Given the description of an element on the screen output the (x, y) to click on. 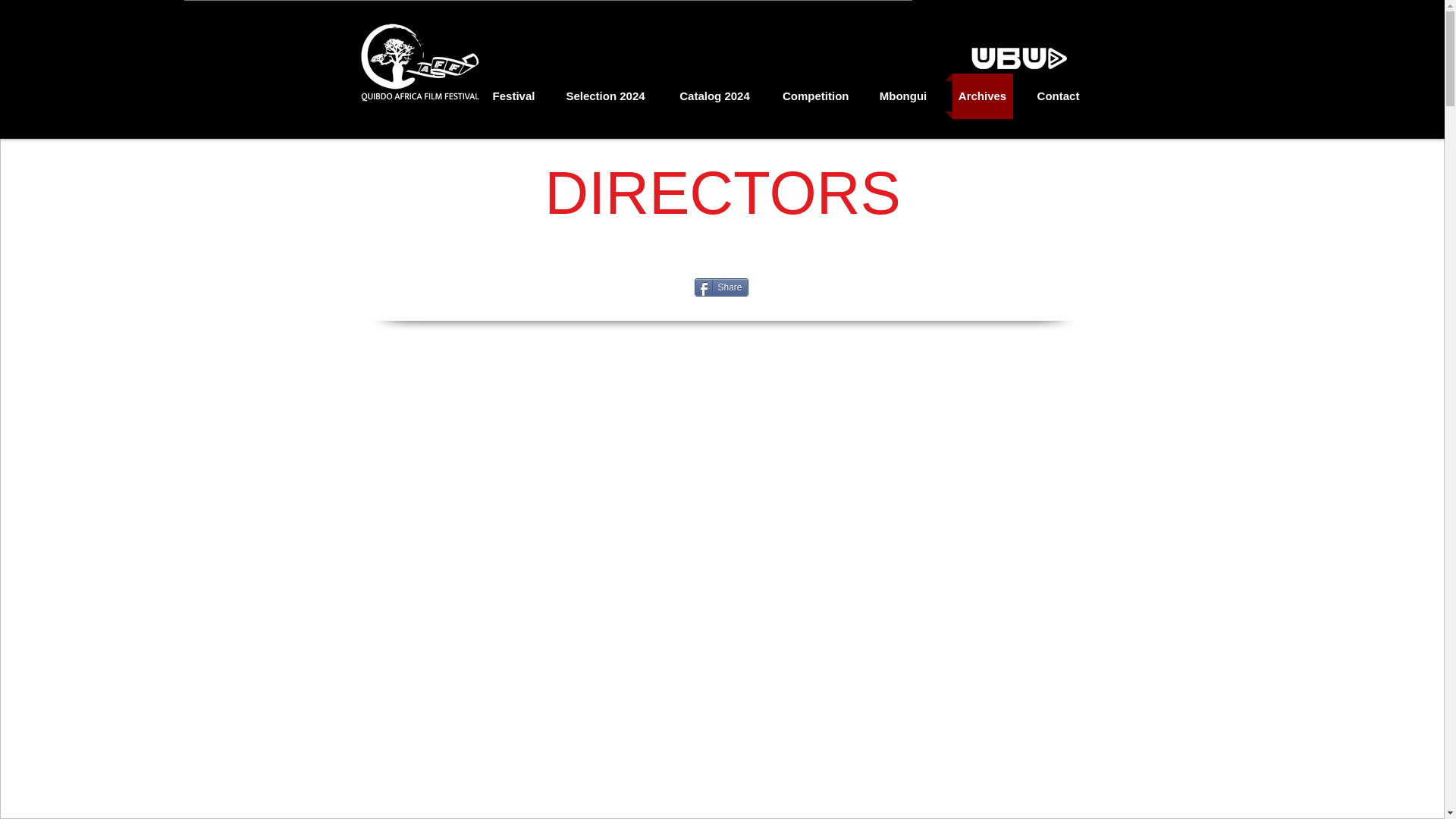
Archives (982, 95)
Selection 2024 (604, 95)
Share (721, 287)
Catalog 2024 (714, 95)
Mbongui (903, 95)
Competition (814, 95)
Festival (513, 95)
